Given the description of an element on the screen output the (x, y) to click on. 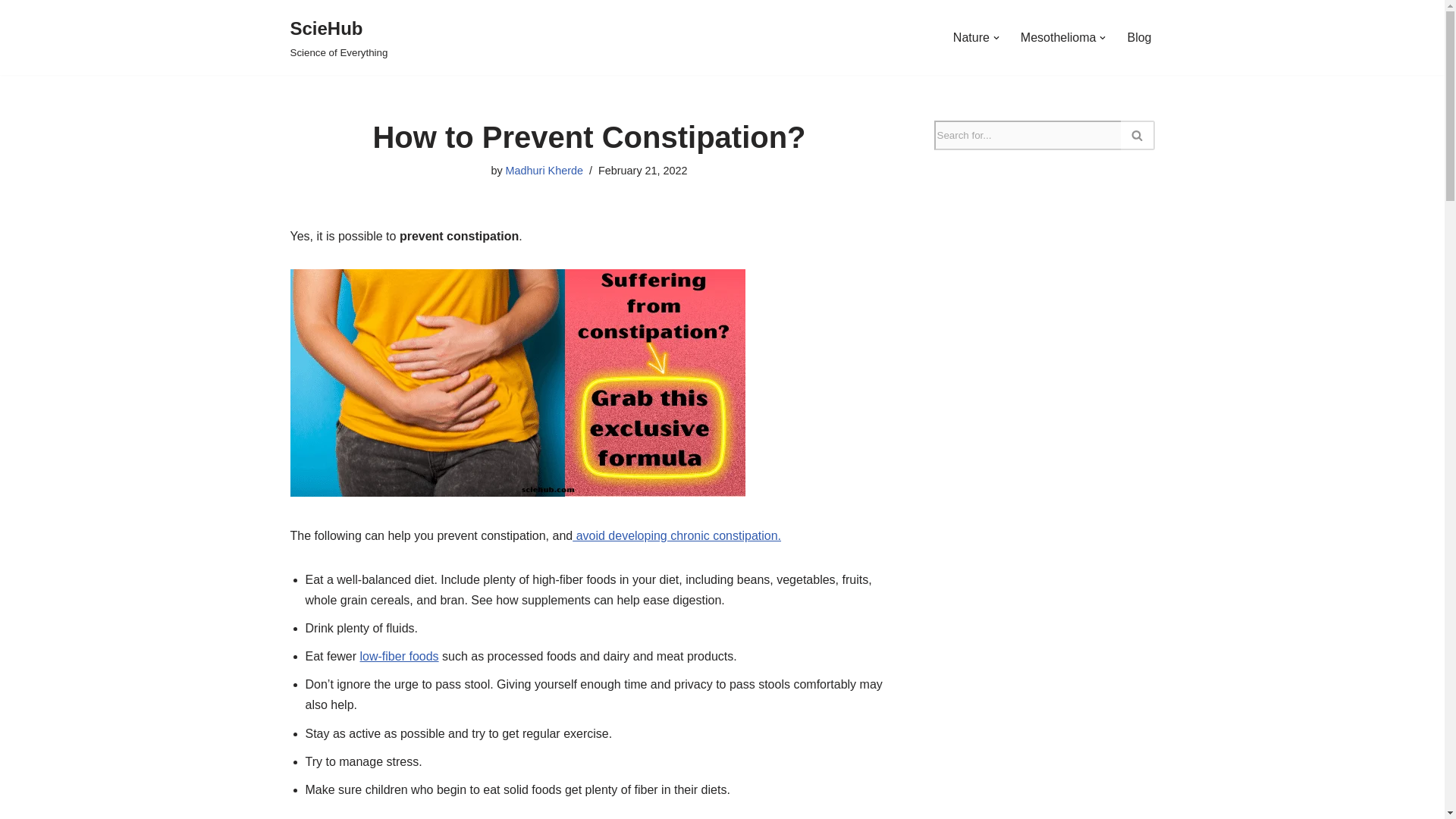
Skip to content (11, 31)
Posts by Madhuri Kherde (544, 170)
Nature (971, 37)
Blog (338, 37)
Mesothelioma (1138, 37)
Prevent constipation (1058, 37)
